Given the description of an element on the screen output the (x, y) to click on. 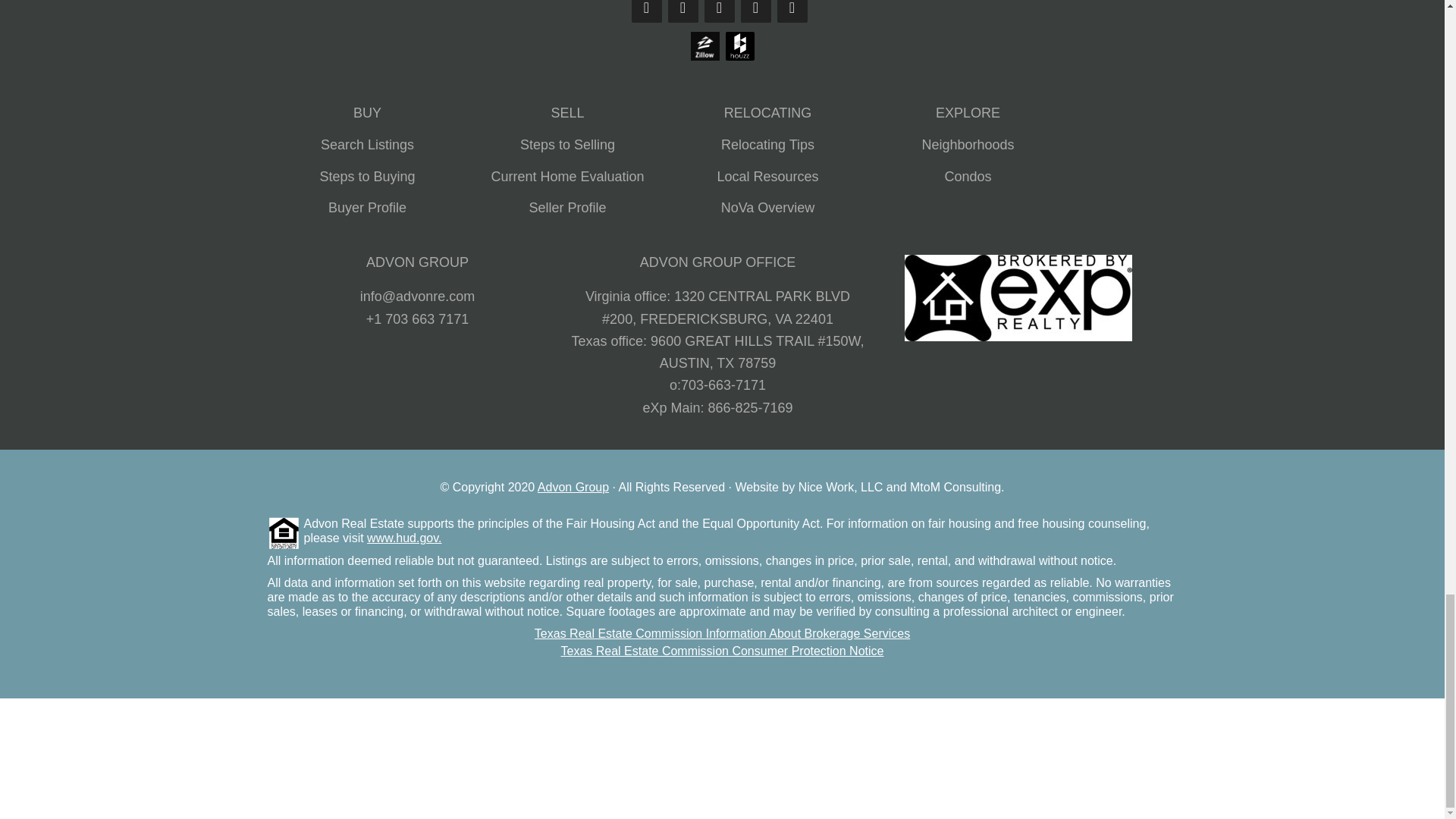
Houzz (739, 45)
Zillow (704, 45)
Zillow (704, 58)
Houzz (739, 58)
